Given the description of an element on the screen output the (x, y) to click on. 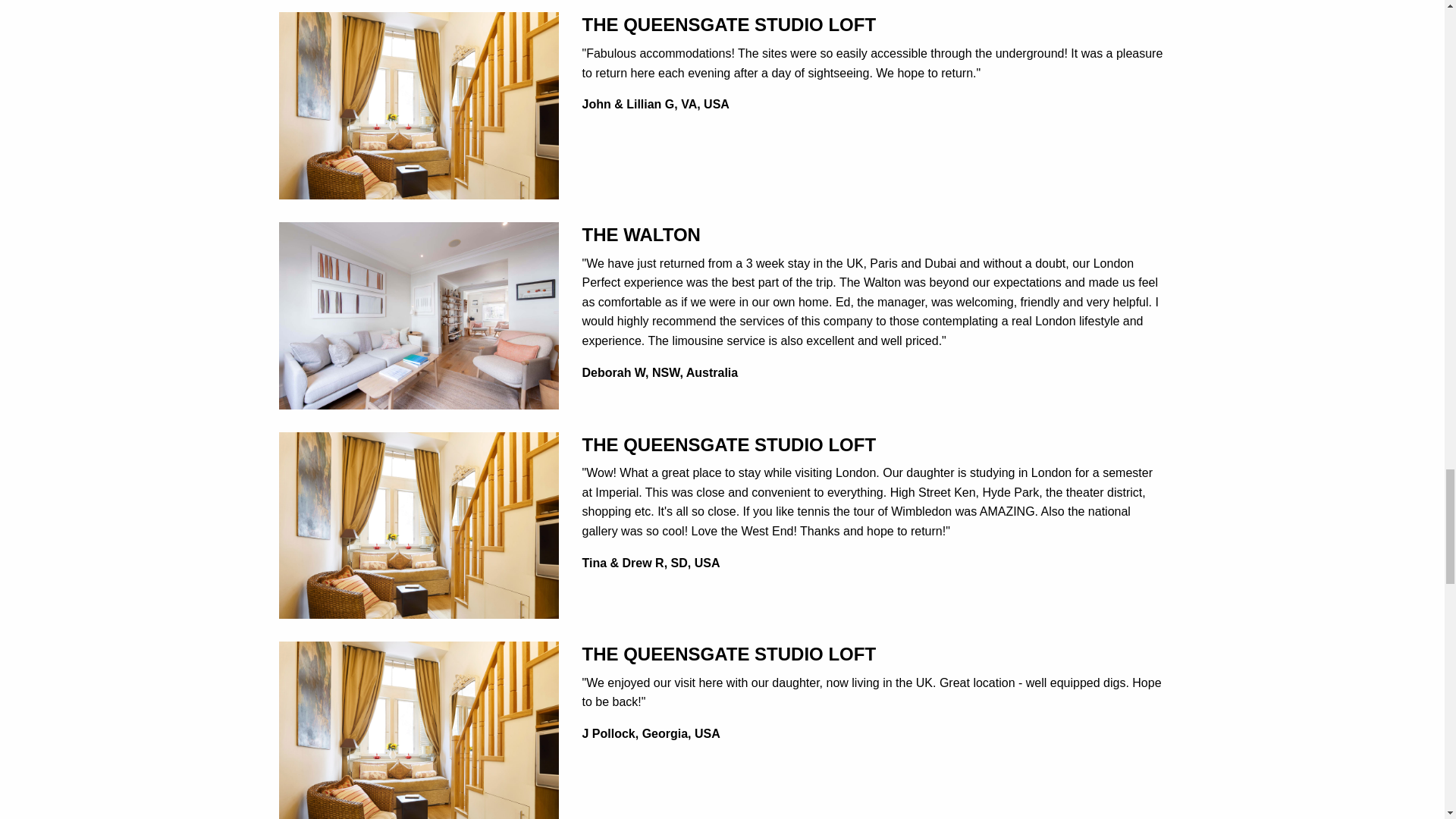
The Queensgate Studio Loft (419, 734)
The Queensgate Studio Loft (419, 104)
The Queensgate Studio Loft (419, 523)
The Walton (419, 314)
